Given the description of an element on the screen output the (x, y) to click on. 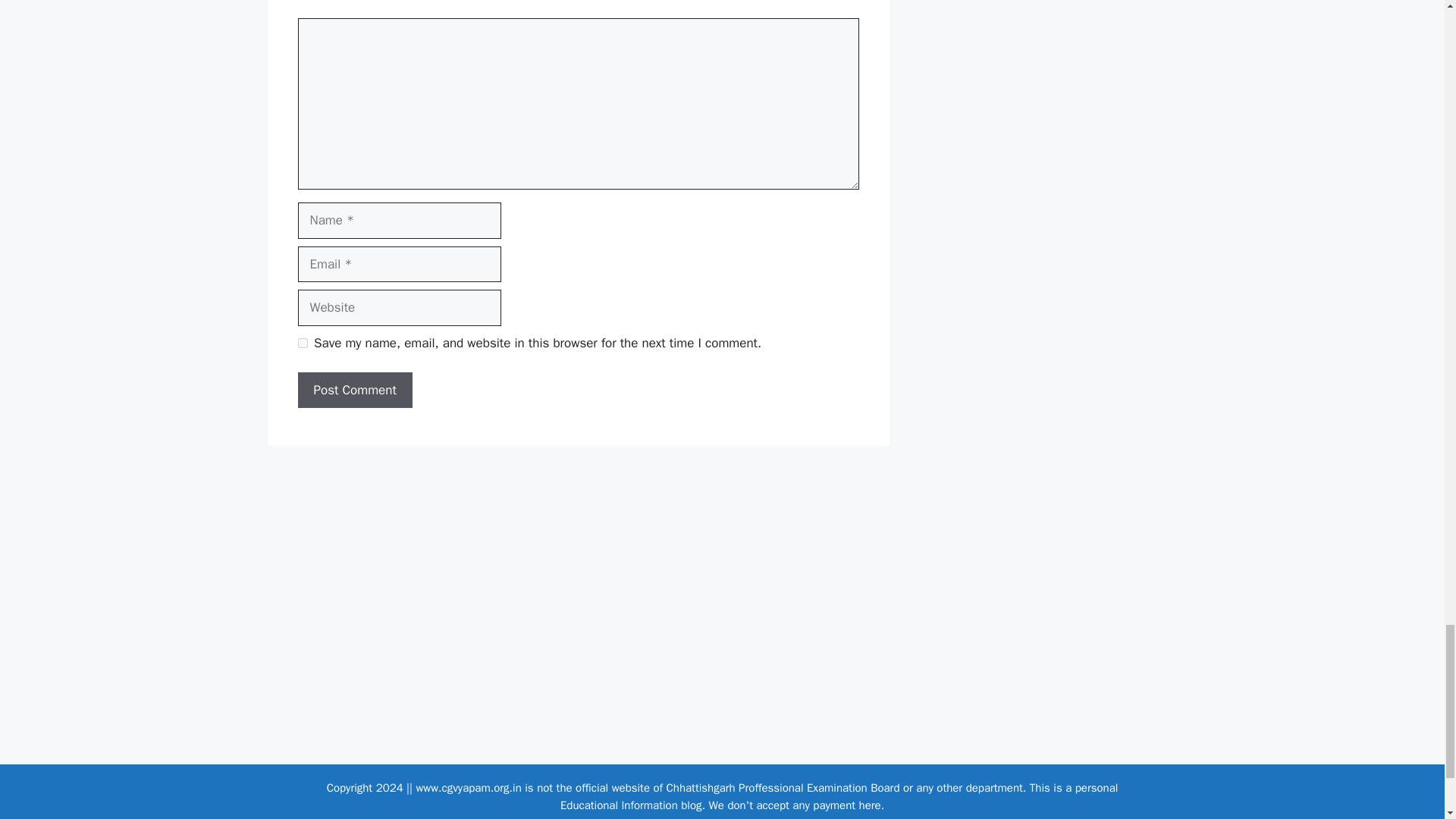
yes (302, 343)
Post Comment (354, 390)
Post Comment (354, 390)
